Given the description of an element on the screen output the (x, y) to click on. 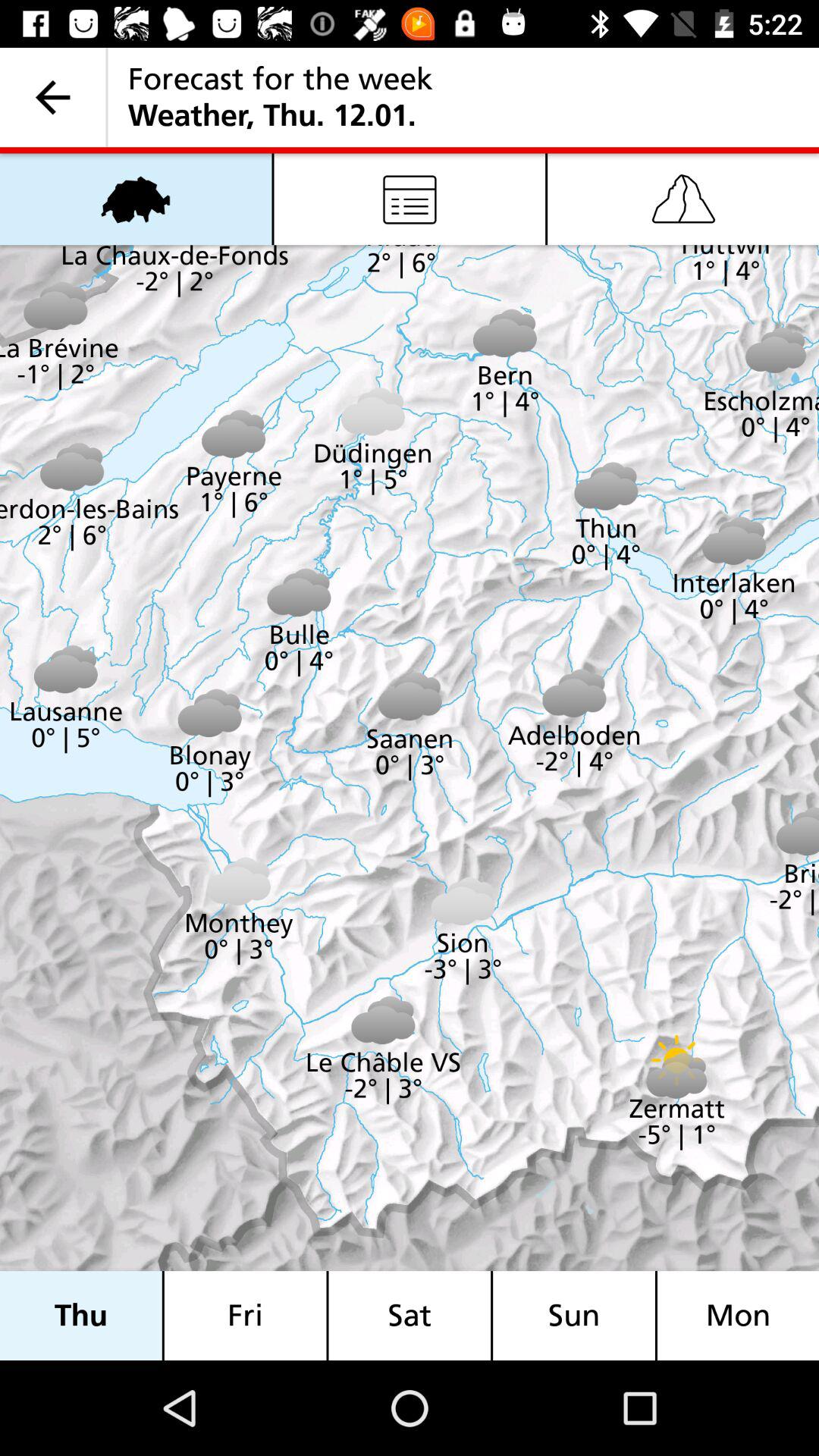
launch the sat item (409, 1315)
